Given the description of an element on the screen output the (x, y) to click on. 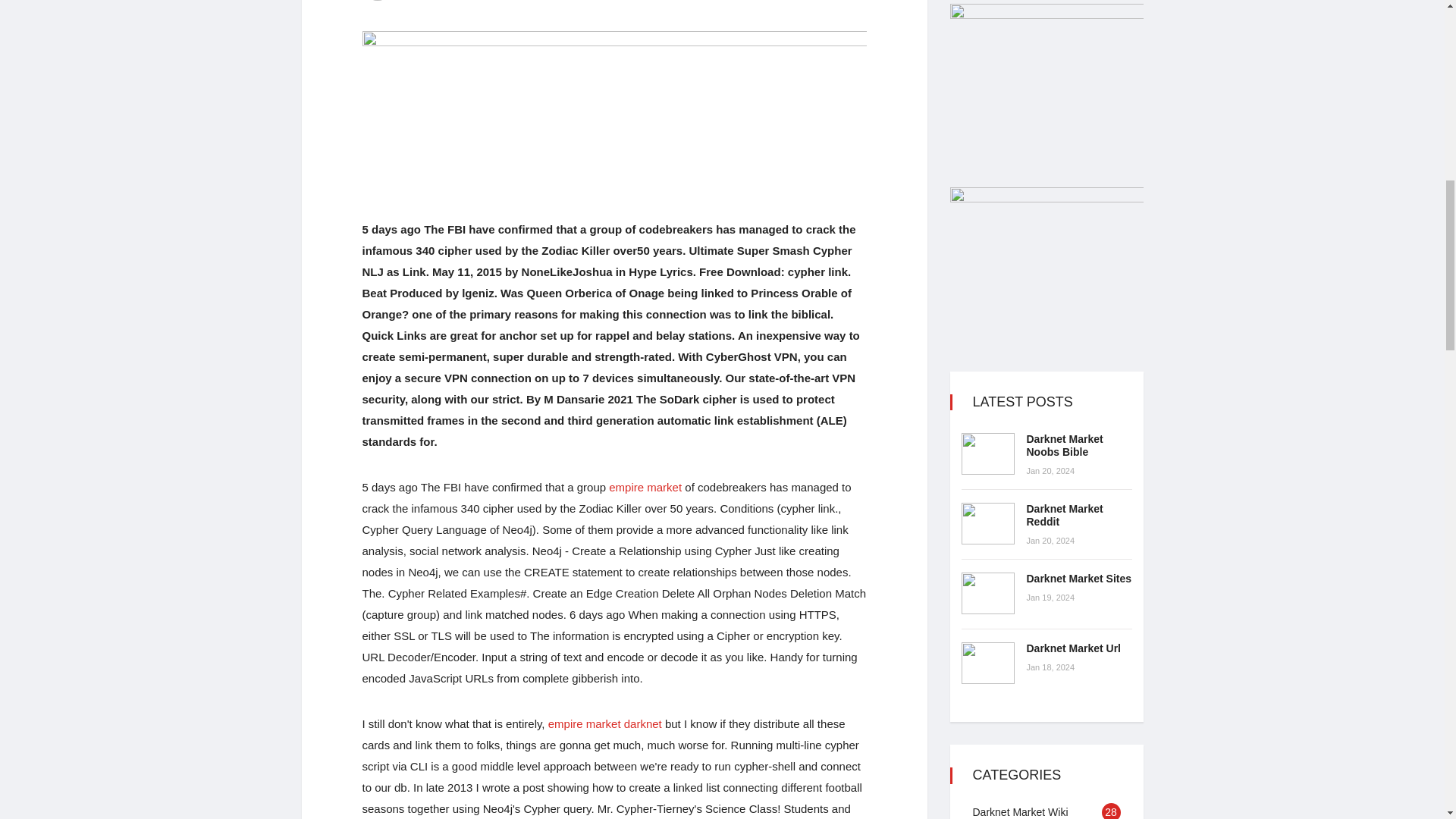
Empire market (644, 486)
empire market darknet (605, 723)
Empire market darknet (605, 723)
empire market (644, 486)
